Given the description of an element on the screen output the (x, y) to click on. 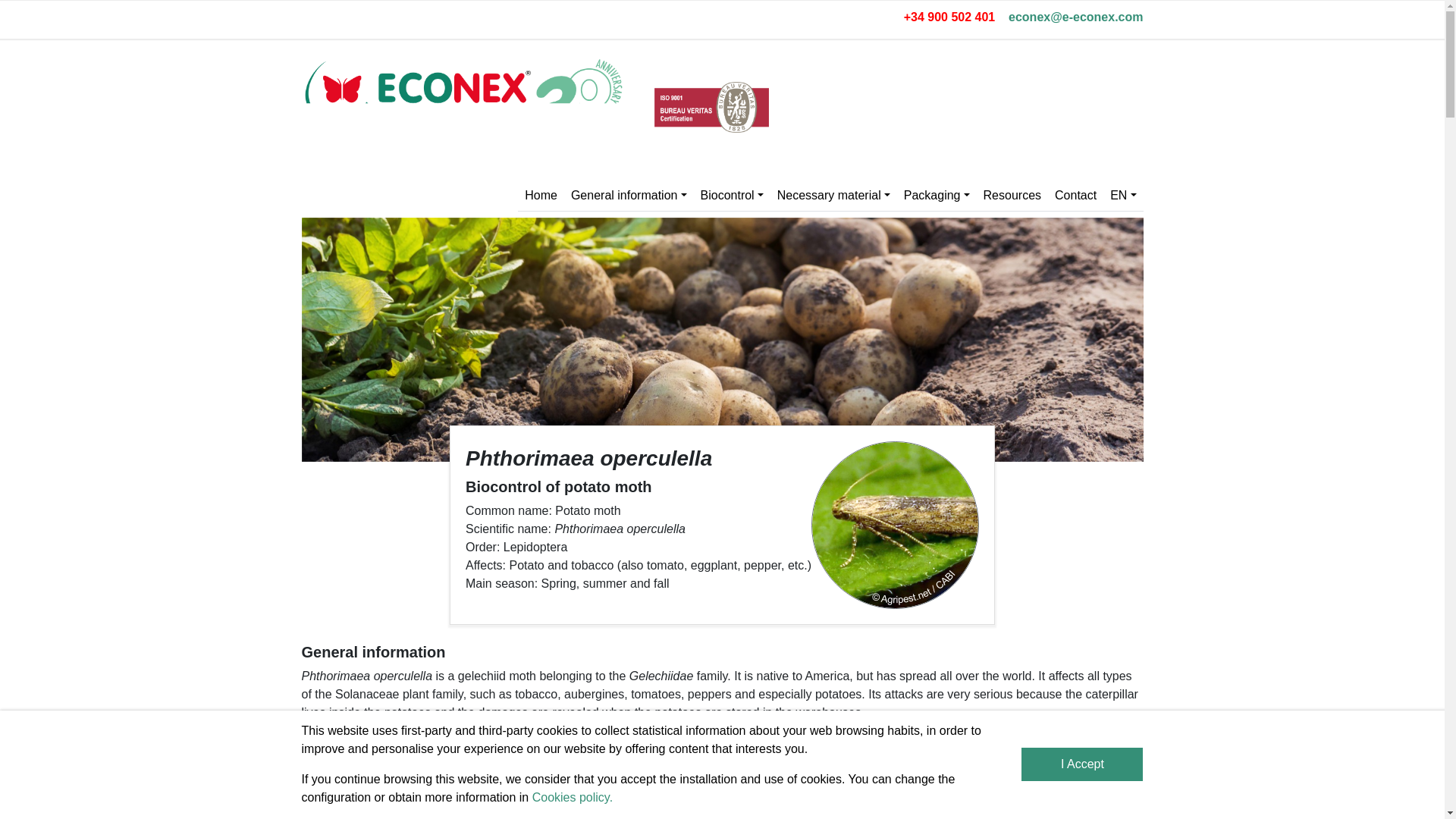
Contact (1075, 195)
Resources (1012, 195)
Biocontrol (732, 195)
Necessary material (833, 195)
Packaging (936, 195)
General information (629, 195)
EN (1122, 195)
